Given the description of an element on the screen output the (x, y) to click on. 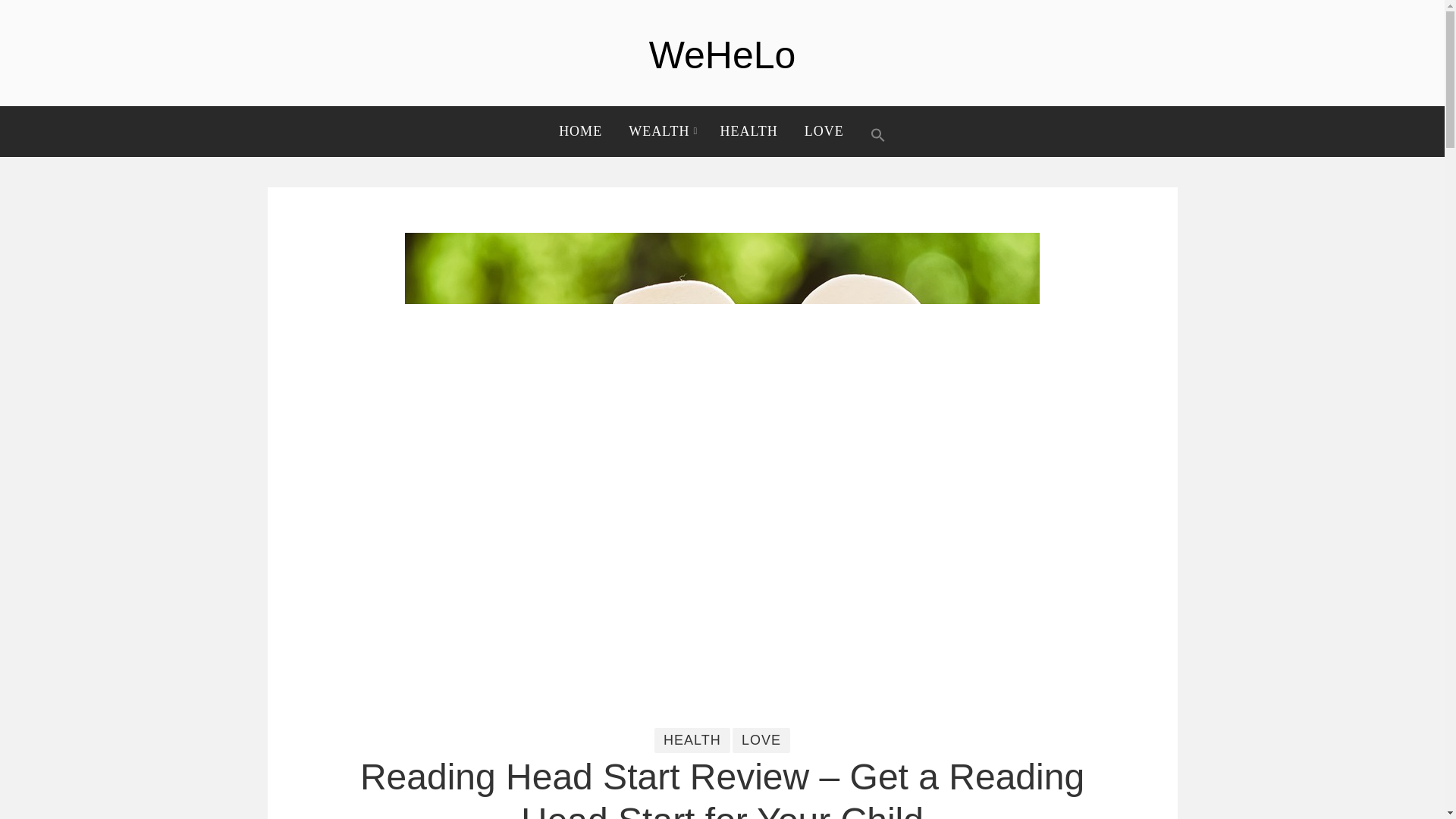
WEALTH (660, 127)
WeHeLo (722, 55)
LOVE (824, 127)
LOVE (761, 740)
HEALTH (748, 127)
HEALTH (691, 740)
HOME (585, 127)
